Given the description of an element on the screen output the (x, y) to click on. 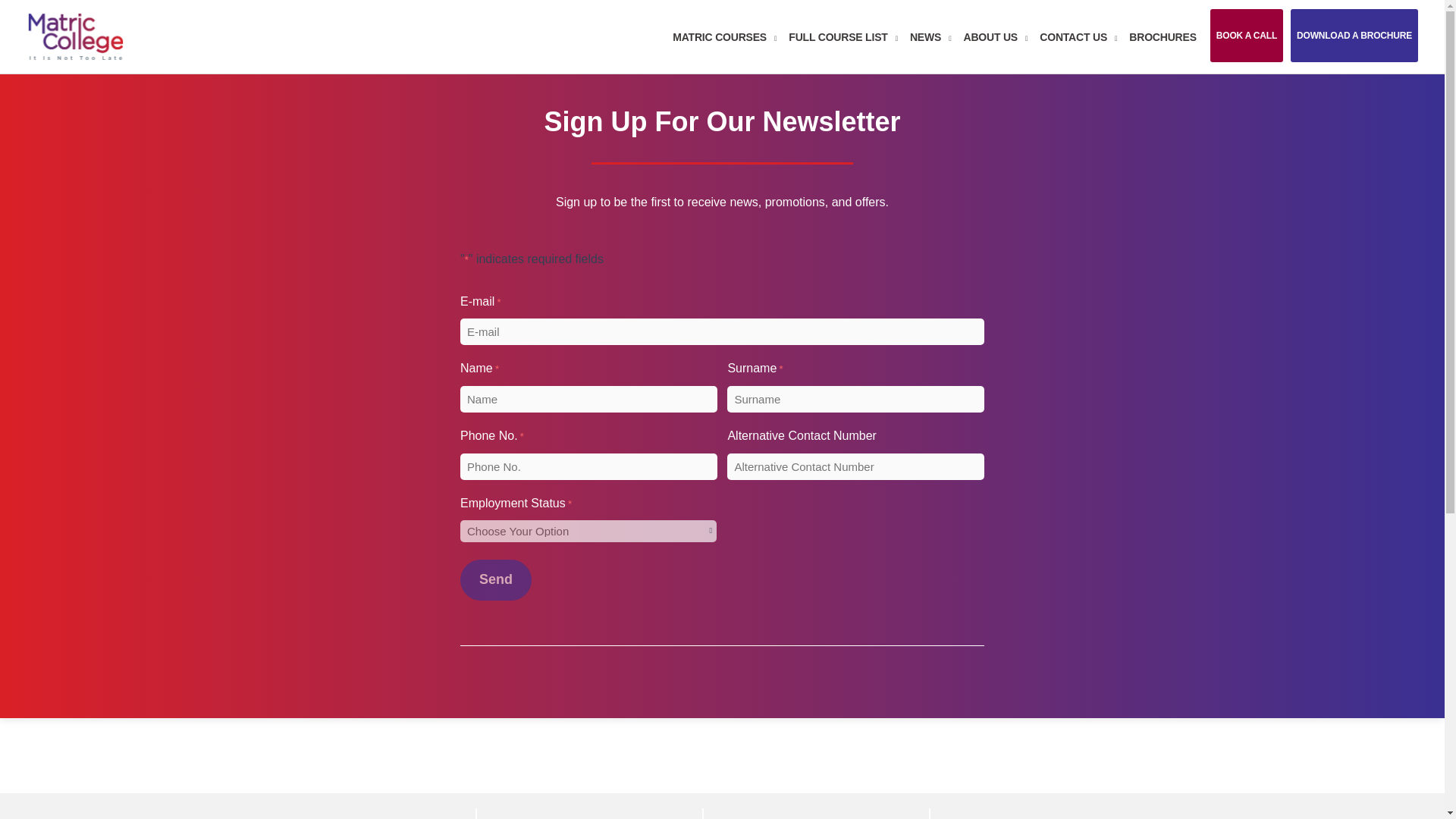
Send (495, 579)
Advertisement (275, 752)
FULL COURSE LIST (843, 36)
MATRIC COURSES (724, 36)
